Given the description of an element on the screen output the (x, y) to click on. 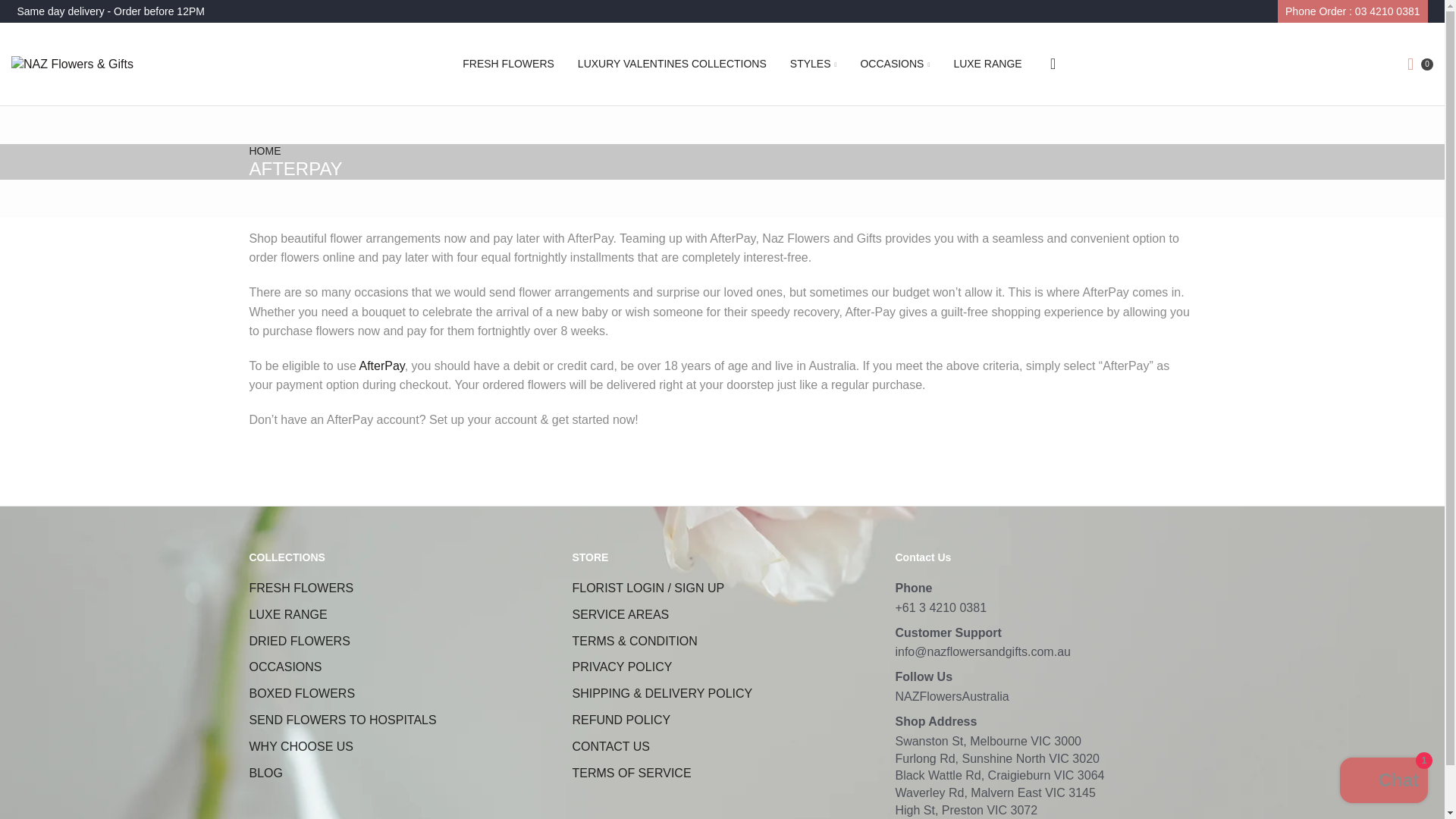
Shopify online store chat (1383, 781)
STYLES (813, 64)
FRESH FLOWERS (508, 64)
Phone Order : 03 4210 0381 (1352, 12)
Same day delivery - Order before 12PM (109, 10)
Shopping cart (1417, 64)
LUXURY VALENTINES COLLECTIONS (672, 64)
